Given the description of an element on the screen output the (x, y) to click on. 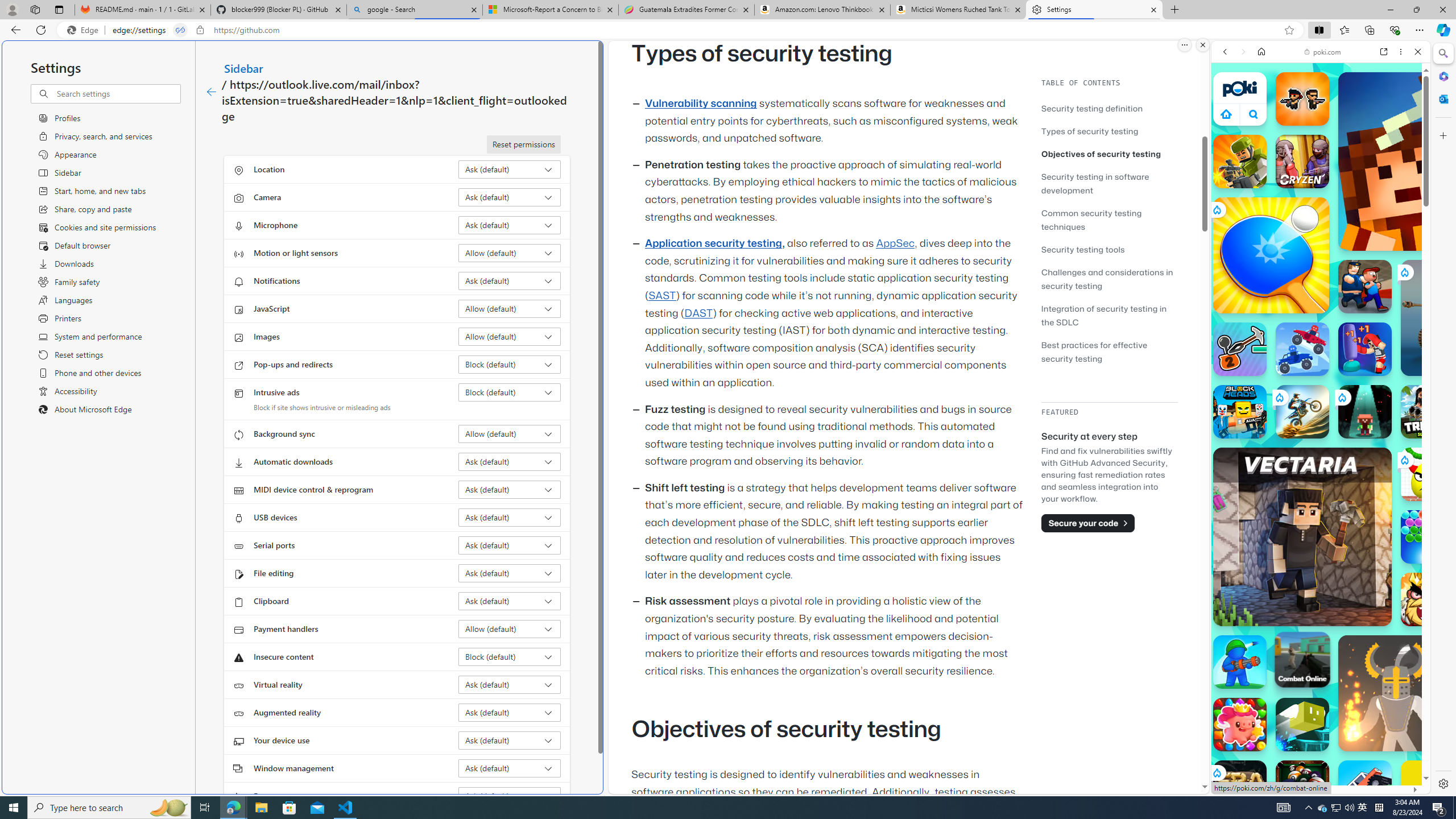
Ping Pong Go! Ping Pong Go! (1270, 255)
Go back to Sidebar page. (210, 91)
Challenges and considerations in security testing (1107, 278)
Combat Reloaded Combat Reloaded poki.com (1349, 548)
Show More Two Player Games (1390, 323)
Show More Games for Girls (1390, 407)
Escape From School (1364, 286)
Camera Ask (default) (509, 197)
Quivershot Quivershot (1364, 411)
